Given the description of an element on the screen output the (x, y) to click on. 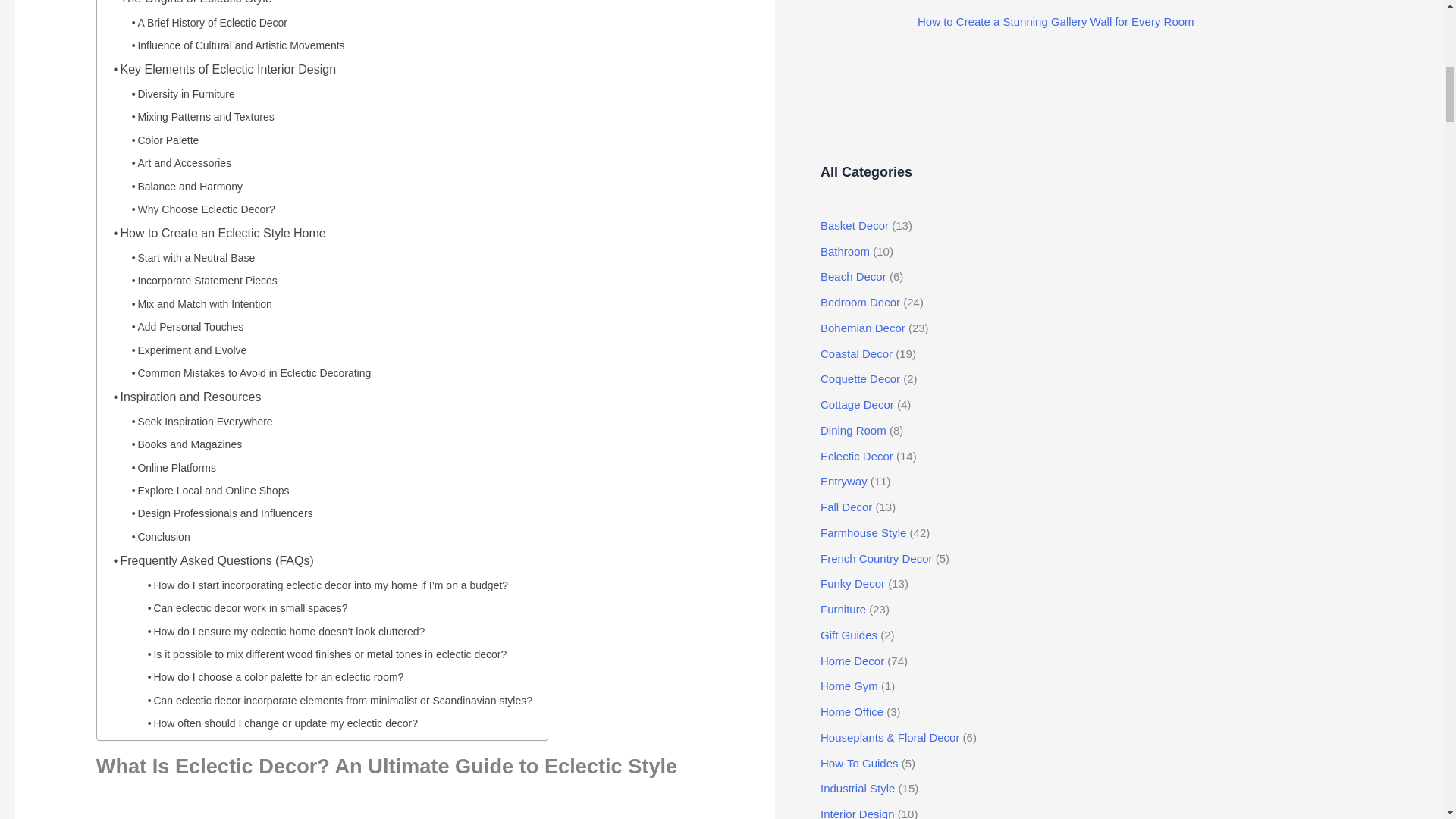
Influence of Cultural and Artistic Movements (233, 42)
Color Palette (160, 137)
Mixing Patterns and Textures (198, 113)
Diversity in Furniture (178, 90)
A Brief History of Eclectic Decor (204, 19)
The Origins of Eclectic Style (188, 4)
Key Elements of Eclectic Interior Design (220, 66)
